Given the description of an element on the screen output the (x, y) to click on. 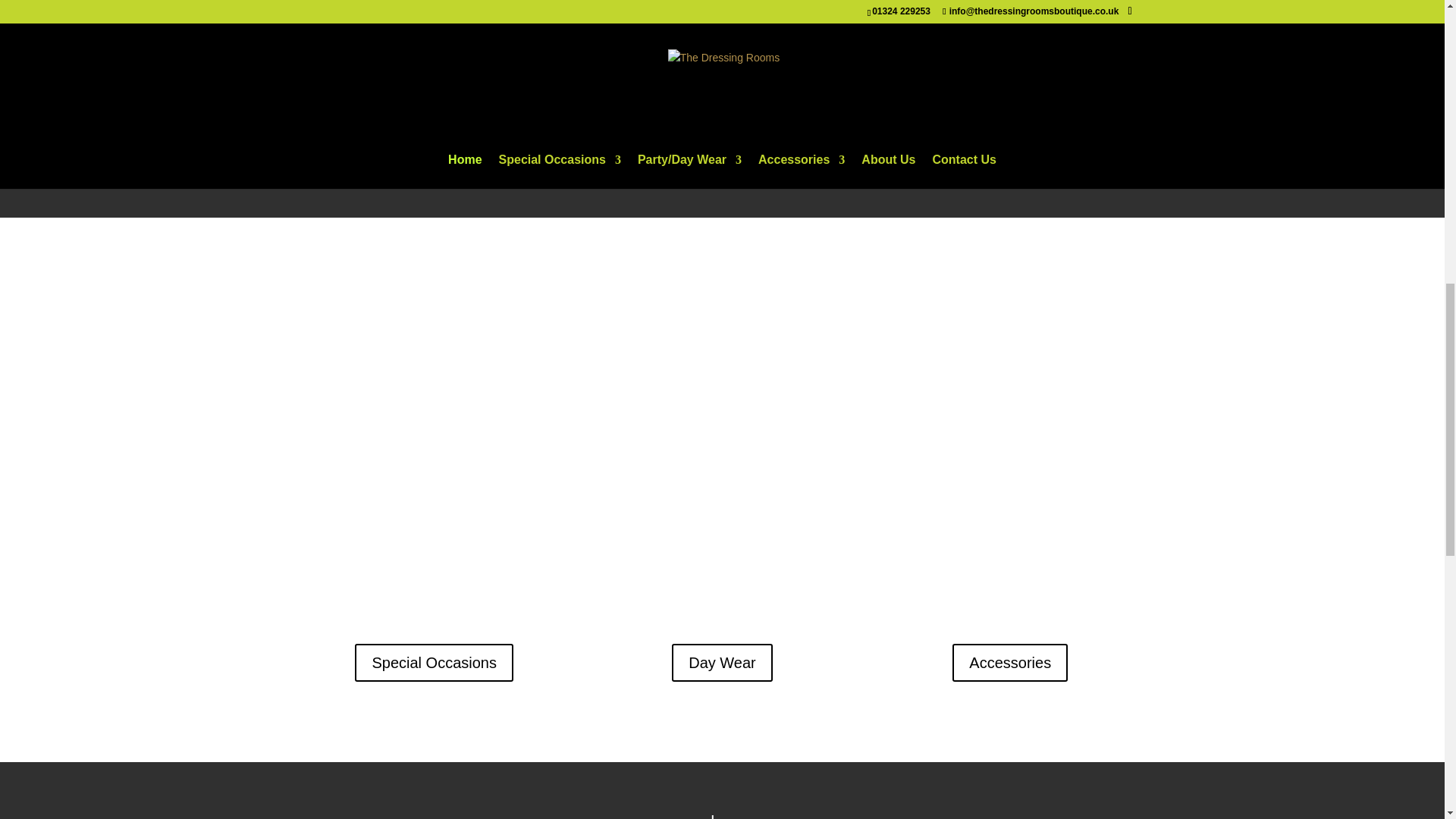
Day Wear (722, 662)
Accessories (1009, 662)
Special Occasions (434, 662)
